Given the description of an element on the screen output the (x, y) to click on. 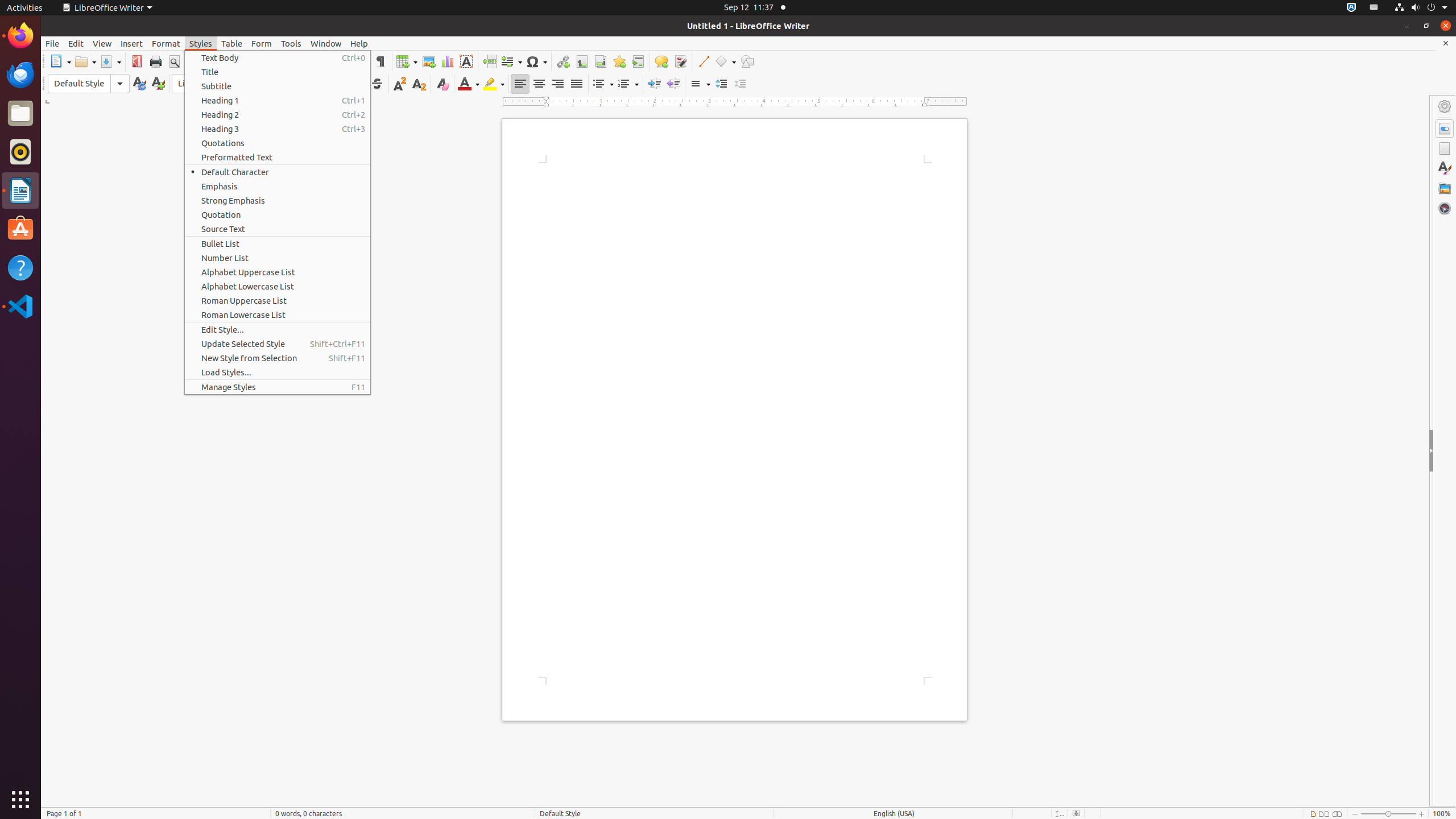
Endnote Element type: push-button (599, 61)
View Element type: menu (102, 43)
Superscript Element type: toggle-button (399, 83)
PDF Element type: push-button (136, 61)
Heading 3 Element type: radio-menu-item (277, 128)
